Given the description of an element on the screen output the (x, y) to click on. 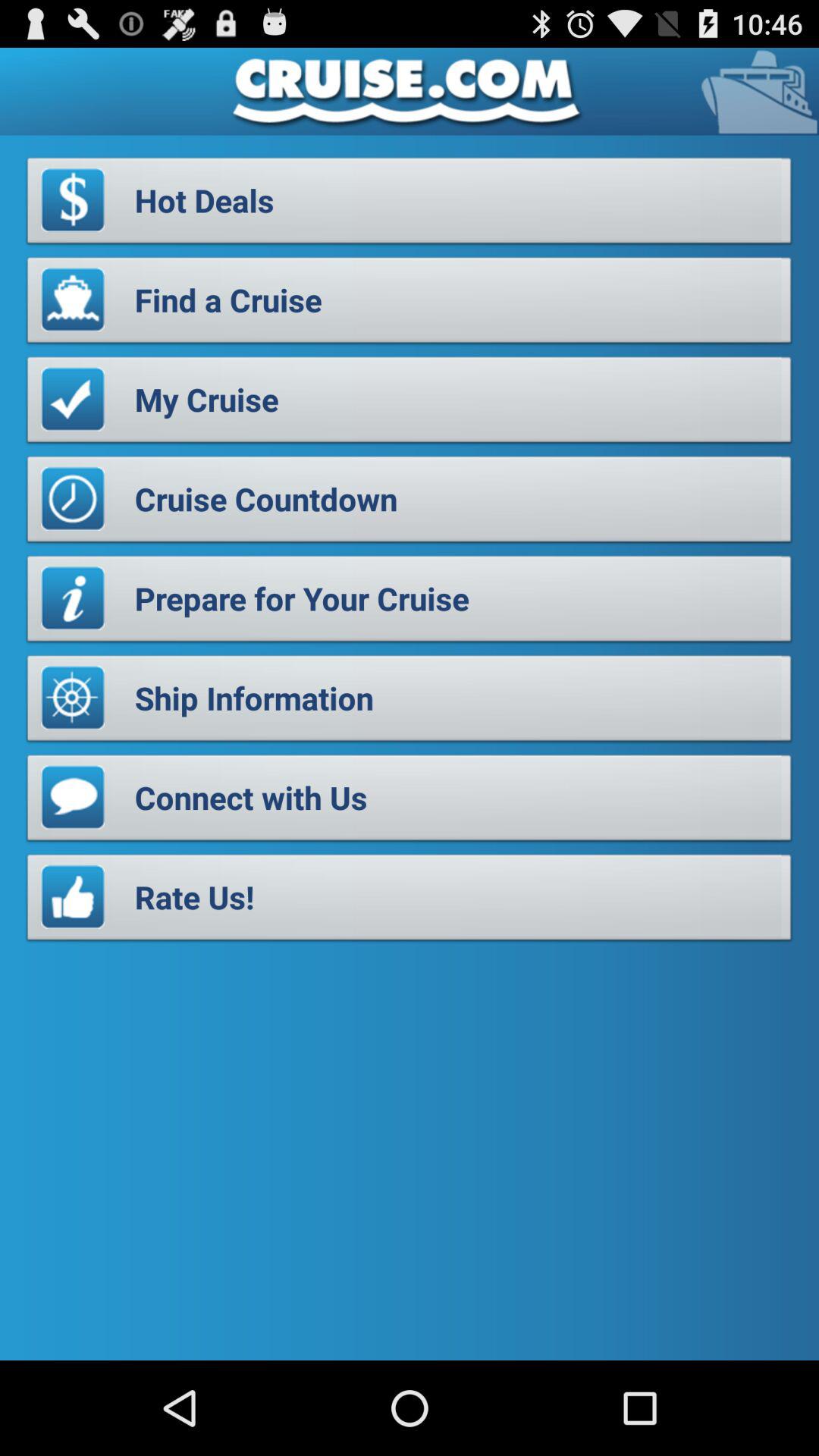
turn off the item below cruise countdown (409, 602)
